Given the description of an element on the screen output the (x, y) to click on. 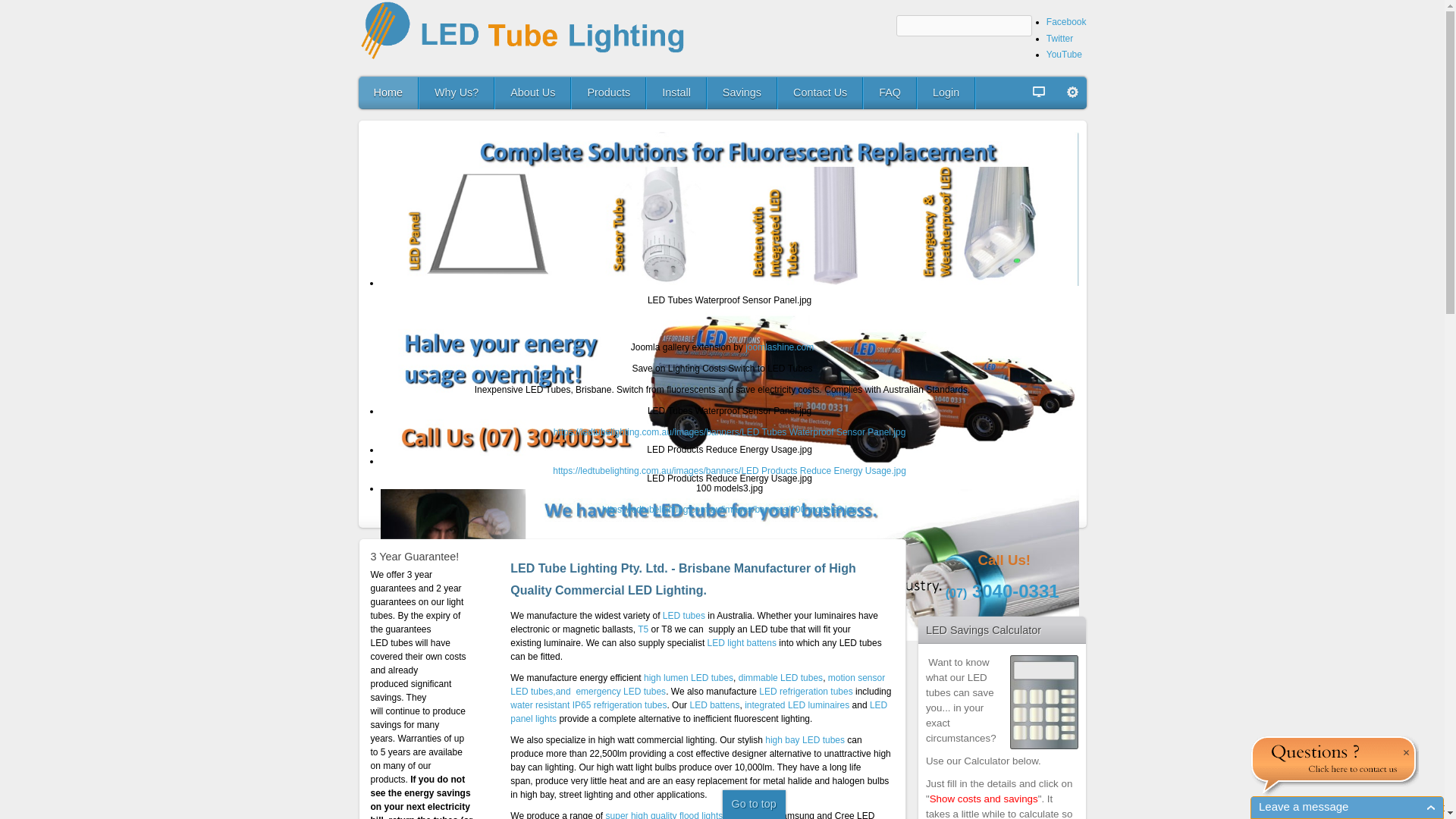
high lumen LED tubes Element type: text (688, 677)
YouTube Element type: text (1064, 54)
FAQ Element type: text (889, 93)
high bay LED tubes Element type: text (806, 739)
water resistant IP65 refrigeration tubes Element type: text (588, 704)
integrated LED luminaires Element type: text (797, 704)
About Us Element type: text (533, 93)
LED light battens  Element type: text (743, 642)
emergency LED tubes Element type: text (620, 691)
LED tubes Element type: text (684, 615)
Products Element type: text (608, 93)
dimmable LED tubes Element type: text (780, 677)
Contact Us Element type: text (820, 93)
Facebook Element type: text (1066, 21)
Home Element type: text (387, 93)
LED panel lights Element type: text (698, 711)
LED battens Element type: text (714, 704)
motion sensor LED tubes,and   Element type: text (697, 684)
Savings Element type: text (742, 93)
Twitter Element type: text (1059, 38)
joomlashine.com Element type: text (779, 347)
LED Tube Lighting Element type: hover (528, 31)
Login Element type: text (946, 93)
Install Element type: text (676, 93)
LED refrigeration tubes Element type: text (807, 691)
T5 Element type: text (642, 629)
Why Us? Element type: text (456, 93)
